Given the description of an element on the screen output the (x, y) to click on. 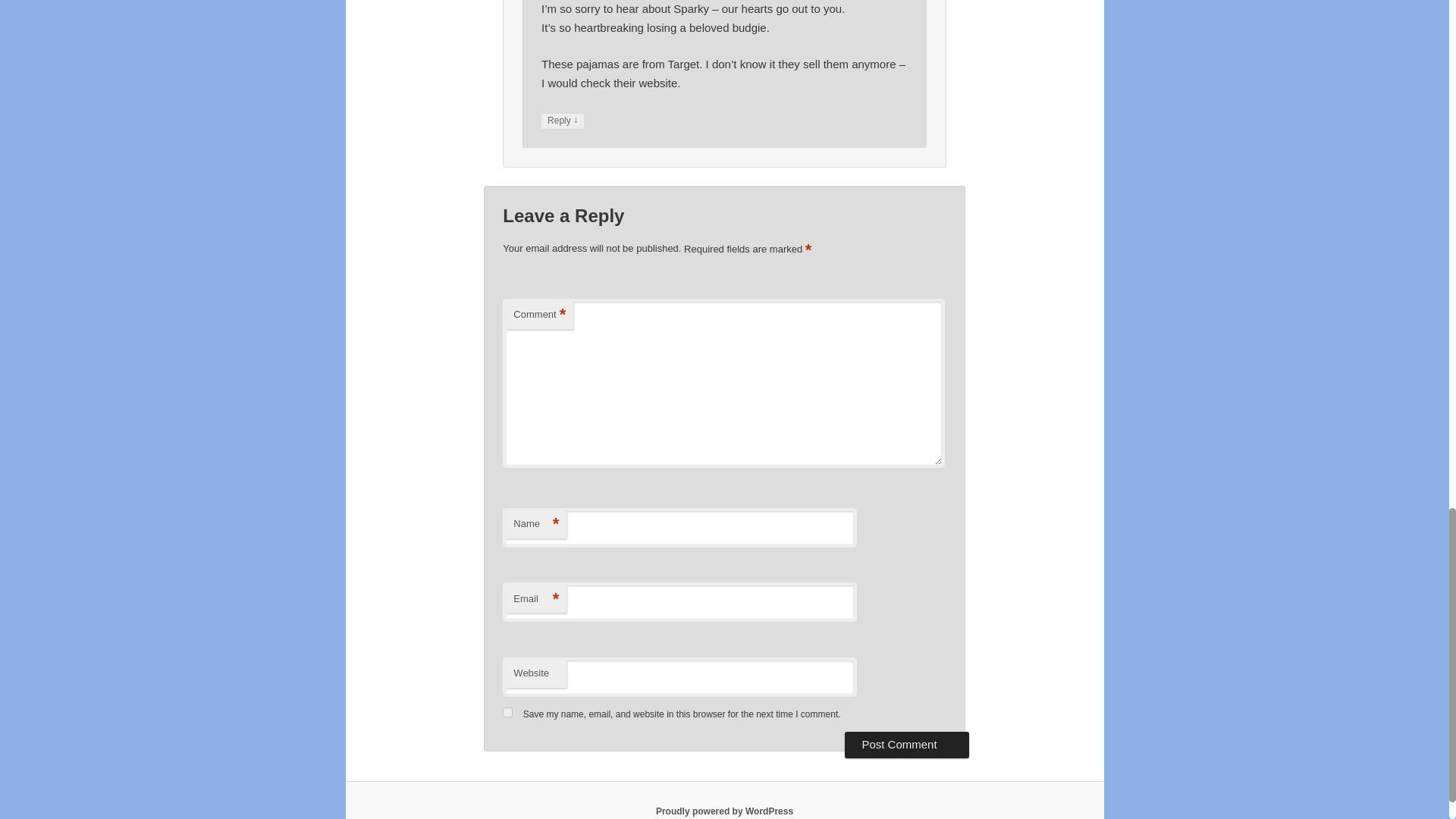
yes (507, 712)
Post Comment (906, 744)
Semantic Personal Publishing Platform (724, 810)
Post Comment (906, 744)
Proudly powered by WordPress (724, 810)
